Given the description of an element on the screen output the (x, y) to click on. 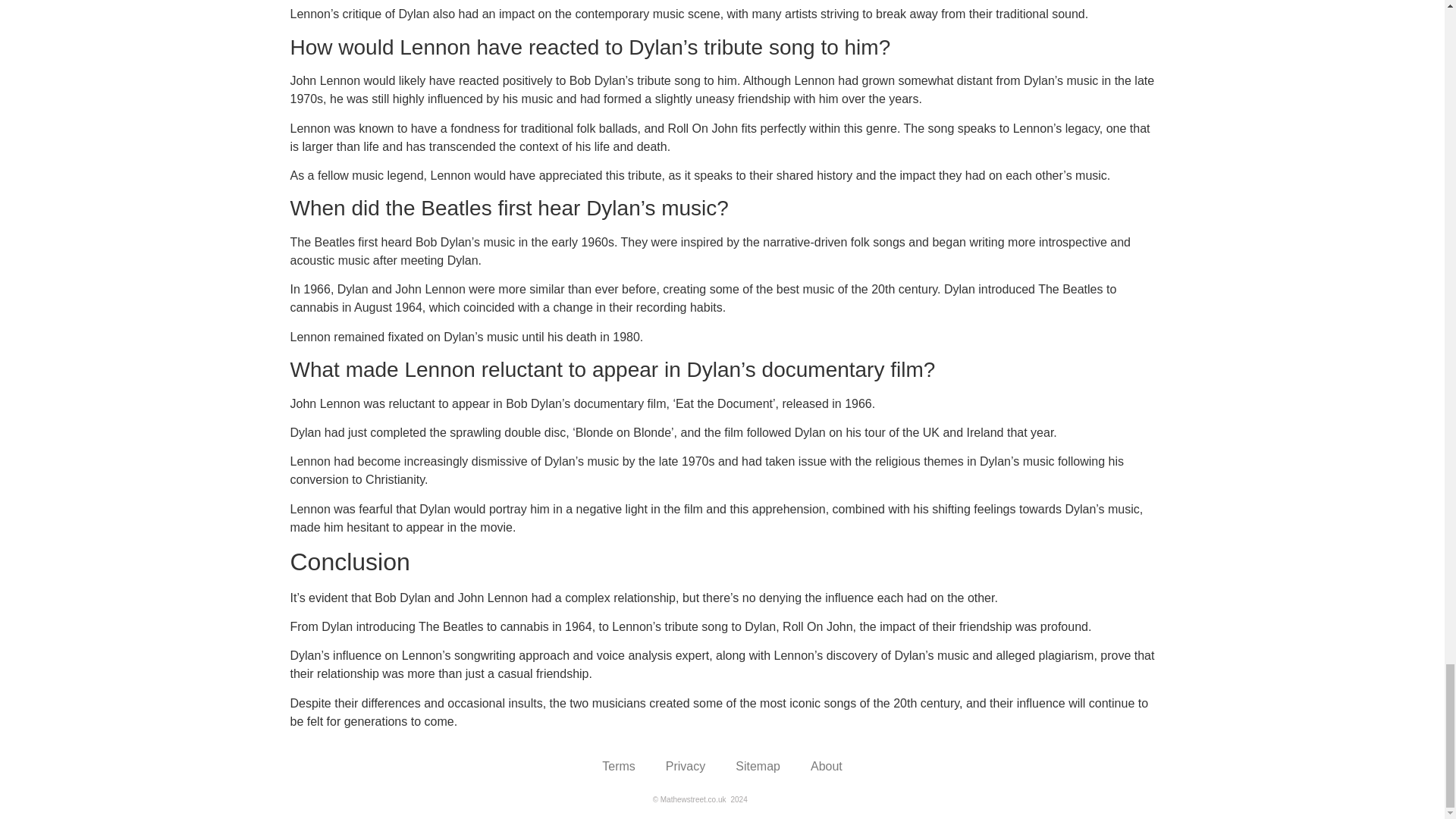
About (825, 766)
Sitemap (757, 766)
Privacy (685, 766)
Terms (618, 766)
